Given the description of an element on the screen output the (x, y) to click on. 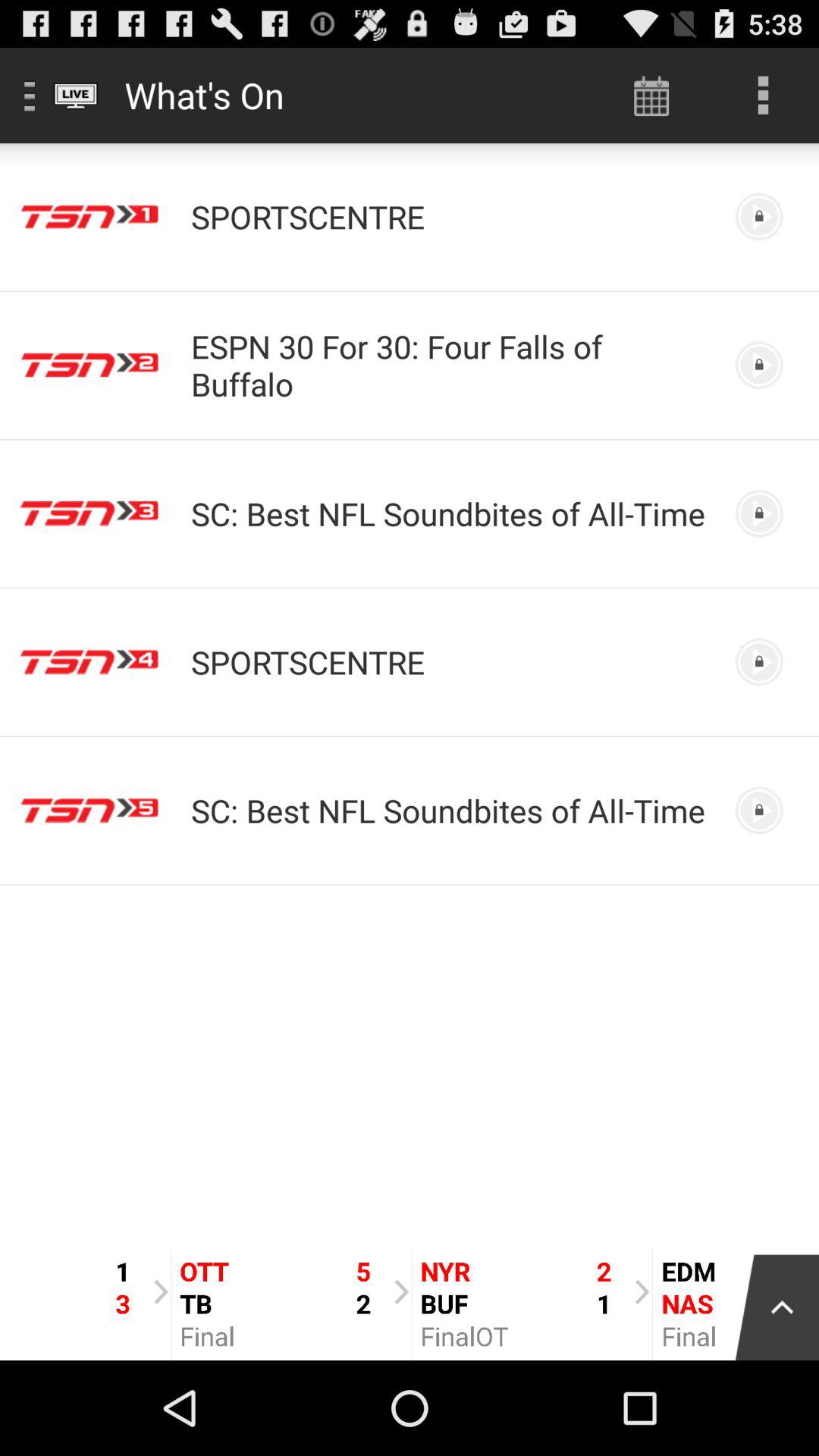
select app above the sc best nfl item (450, 364)
